Given the description of an element on the screen output the (x, y) to click on. 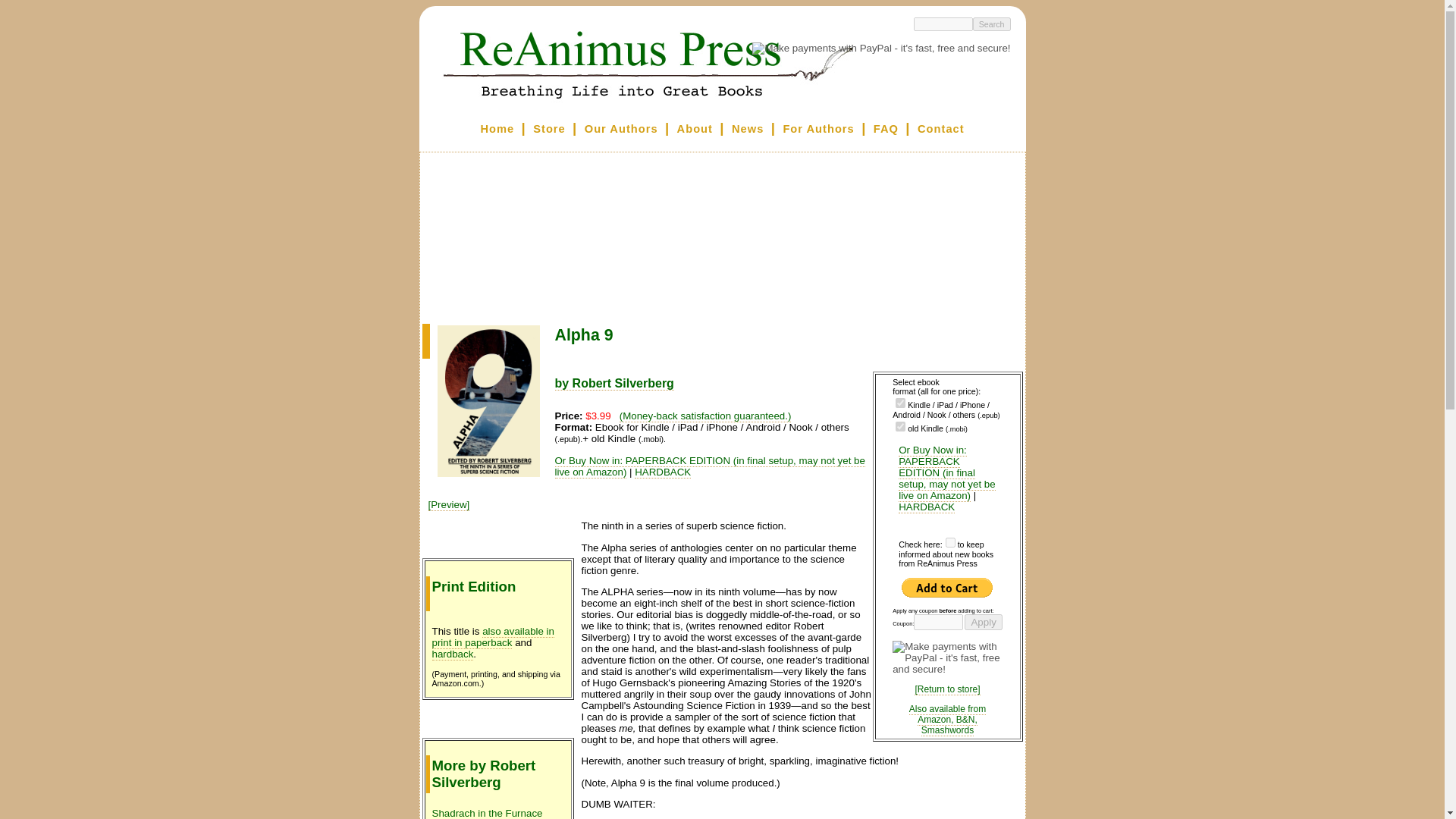
Contact (940, 128)
Apply (982, 621)
Our Authors (621, 128)
by Robert Silverberg (614, 383)
Search (991, 24)
Search (991, 24)
HARDBACK (926, 507)
HARDBACK (662, 472)
hardback (453, 654)
FAQ (885, 128)
Apply (982, 621)
Store (548, 128)
also available in print in paperback (493, 637)
on (900, 402)
News (747, 128)
